Given the description of an element on the screen output the (x, y) to click on. 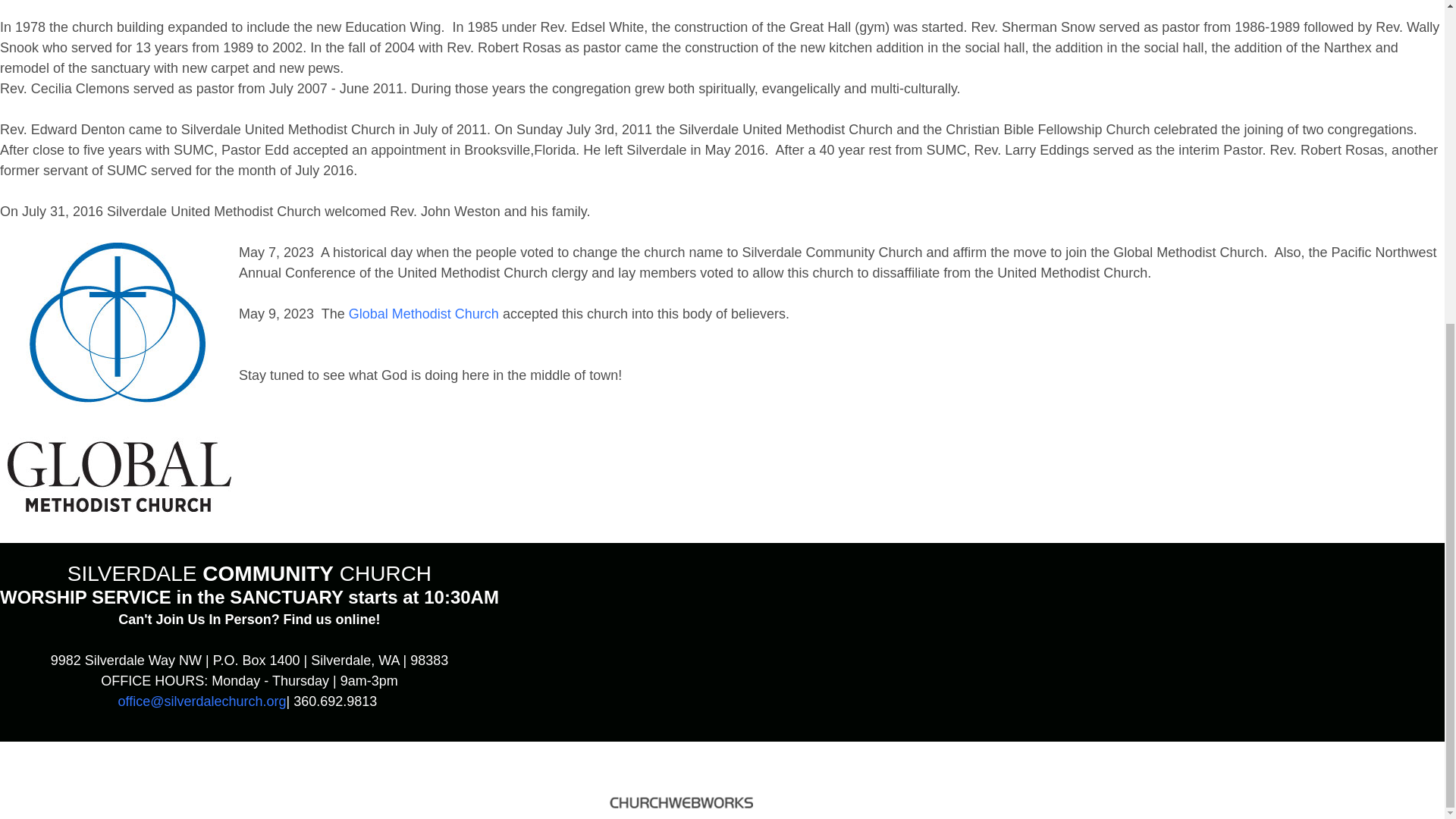
Global Methodist Church (424, 313)
